Given the description of an element on the screen output the (x, y) to click on. 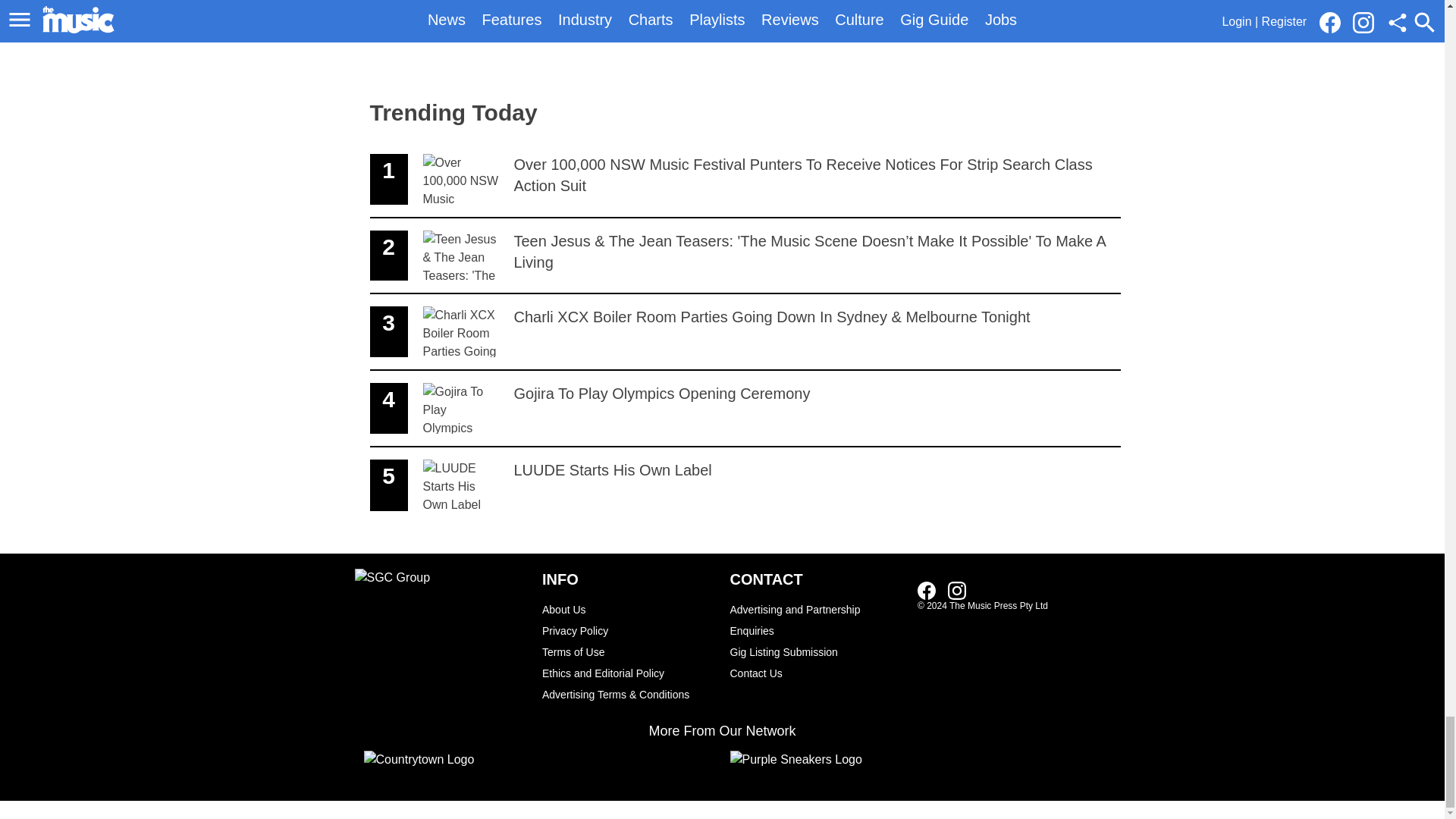
Link to our Instagram (956, 590)
Advertising and Partnership Enquiries (745, 485)
Link to our Facebook (815, 619)
Privacy Policy (745, 409)
Ethics and Editorial Policy (926, 590)
Terms of Use (627, 630)
About Us (627, 672)
Link to our Facebook (627, 651)
Contact Us (627, 608)
Gig Listing Submission (930, 589)
Link to our Instagram (815, 672)
Spotify Embed: Inhuman (815, 651)
